Given the description of an element on the screen output the (x, y) to click on. 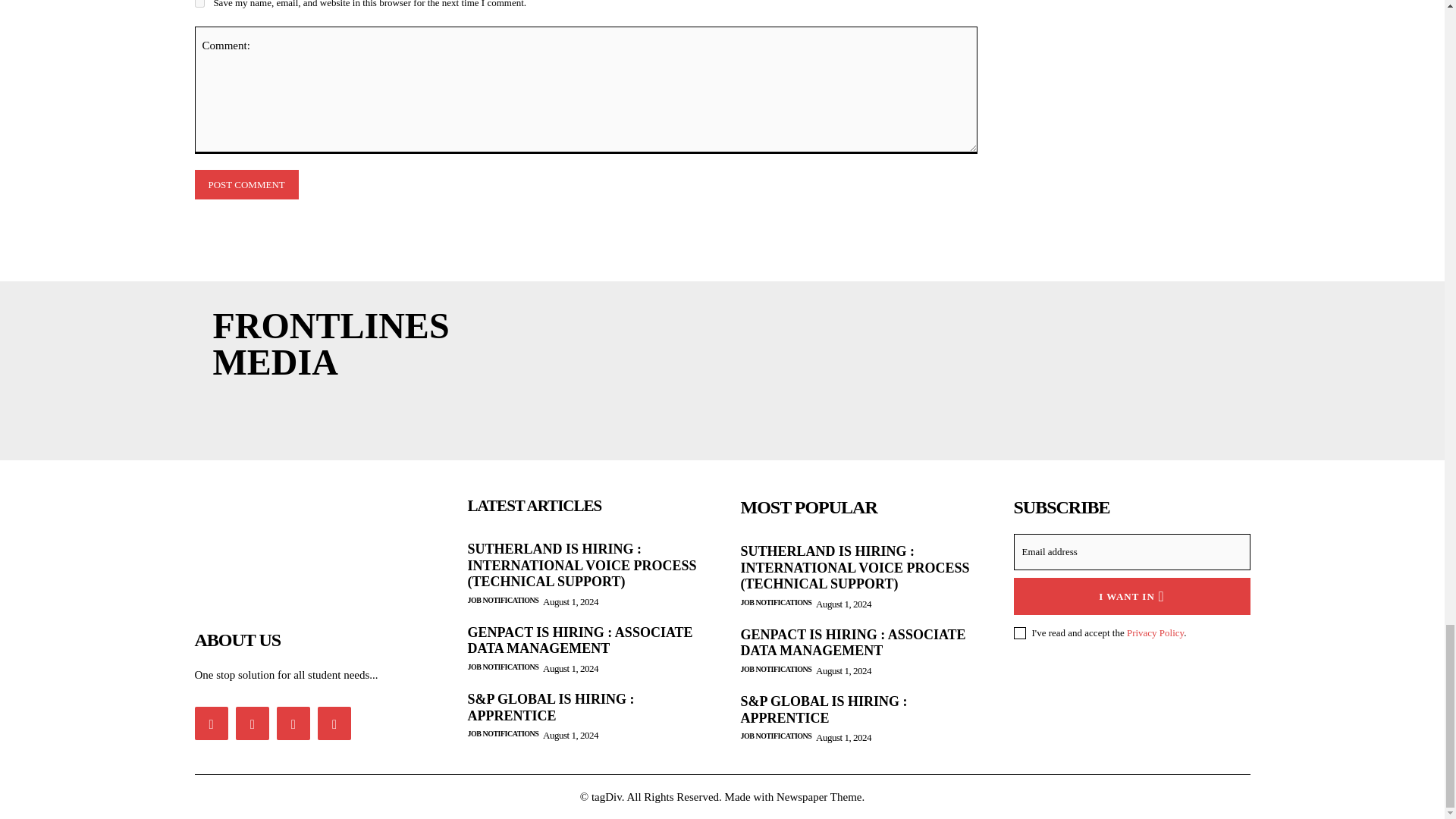
Post Comment (245, 184)
yes (198, 3)
